Given the description of an element on the screen output the (x, y) to click on. 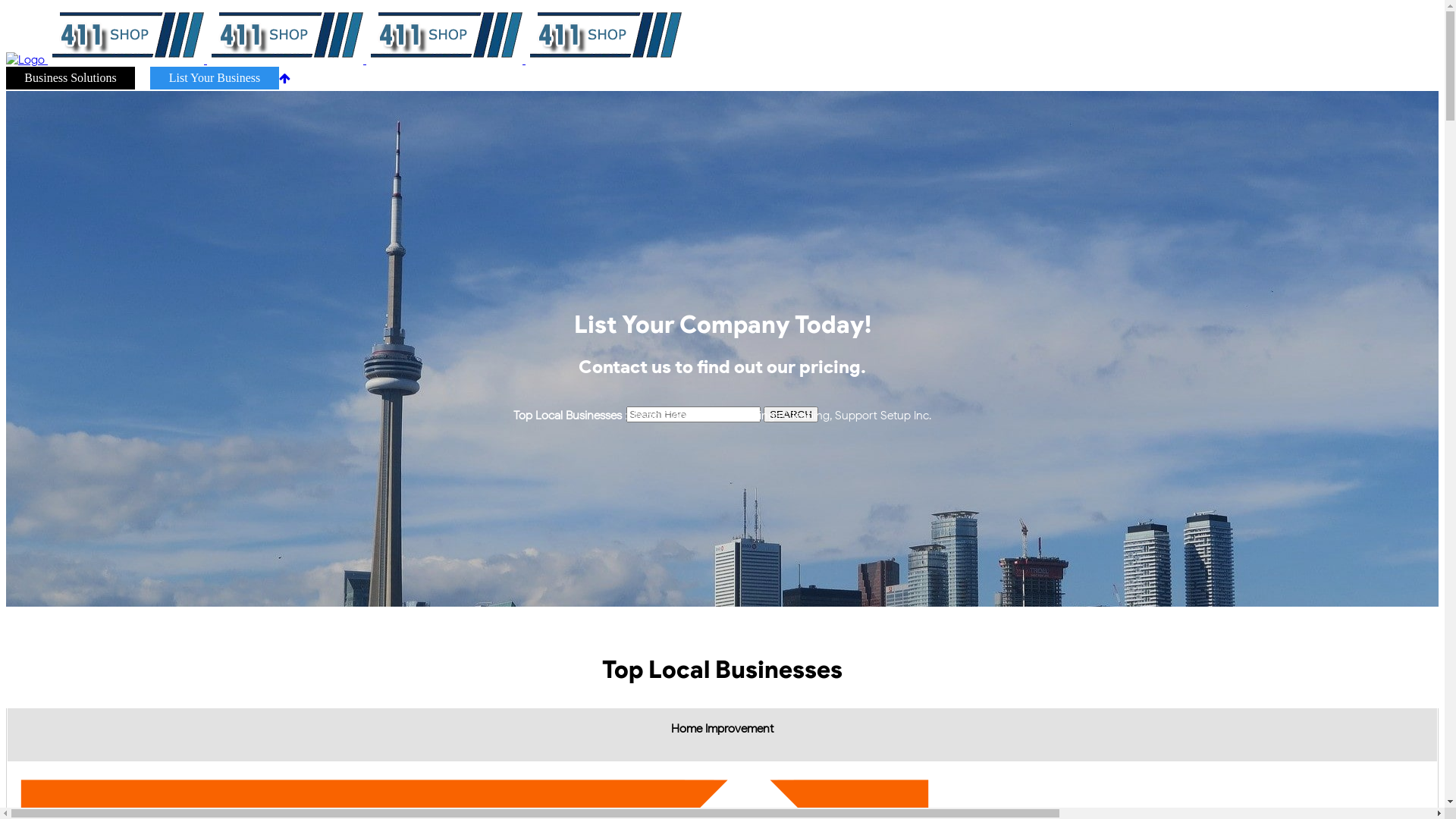
SEARCH Element type: text (790, 414)
